Given the description of an element on the screen output the (x, y) to click on. 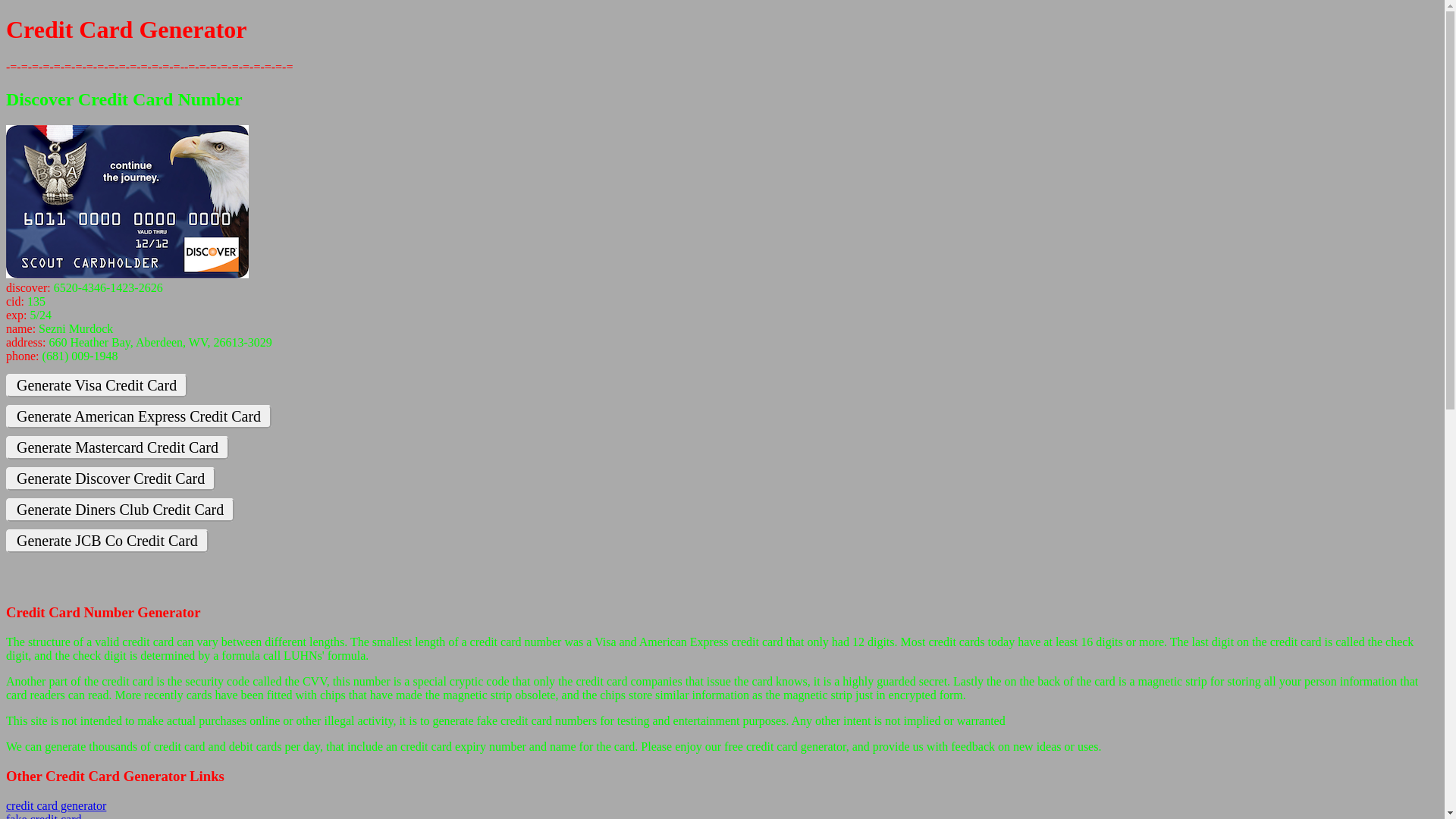
Generate Visa Credit Card Element type: text (96, 385)
Generate American Express Credit Card Element type: text (138, 416)
credit card generator Element type: text (56, 805)
Generate Diners Club Credit Card Element type: text (120, 509)
Generate JCB Co Credit Card Element type: text (107, 540)
Generate Discover Credit Card Element type: text (110, 478)
Generate Mastercard Credit Card Element type: text (117, 447)
